Given the description of an element on the screen output the (x, y) to click on. 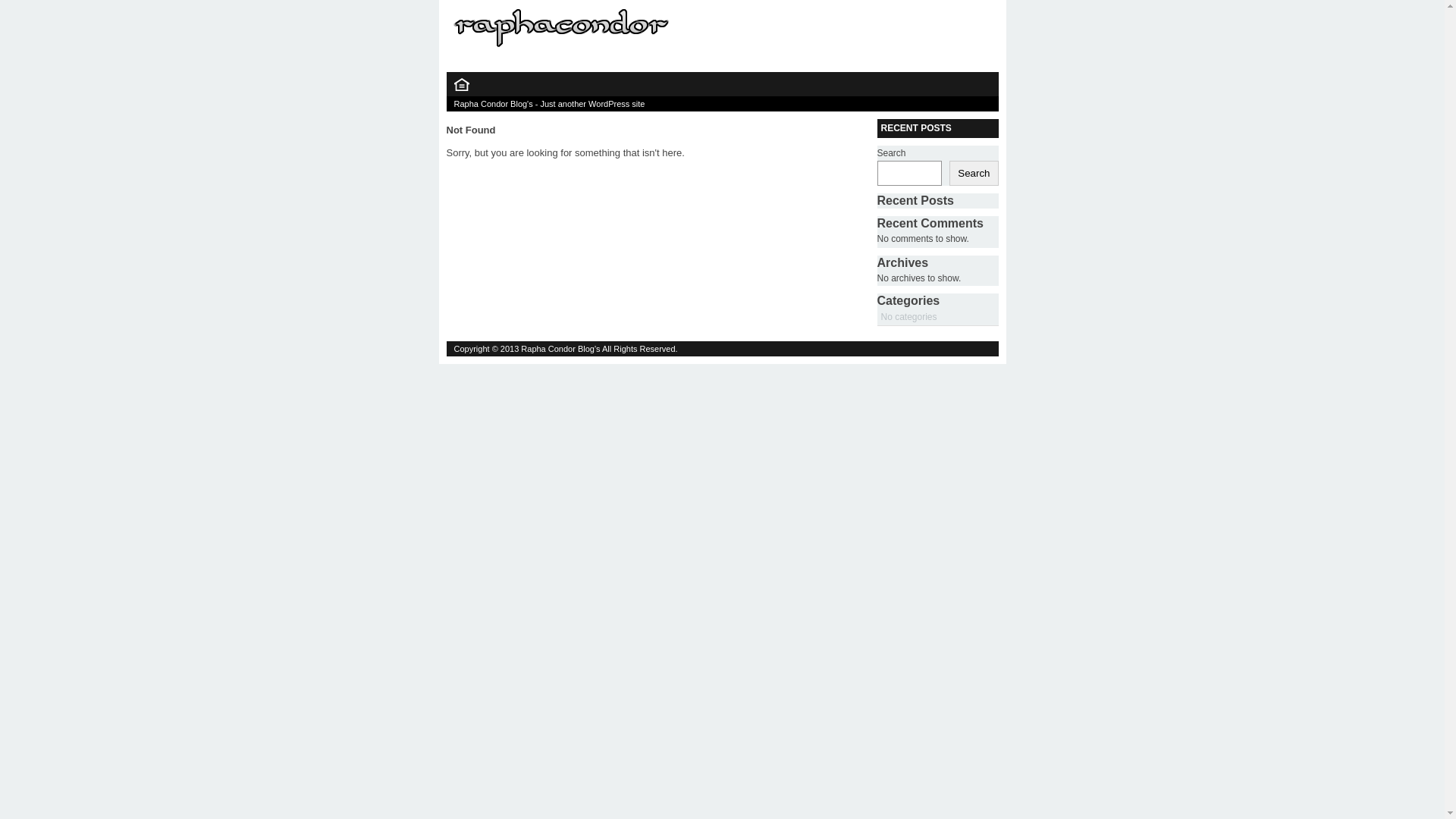
Search Element type: text (973, 172)
Home Element type: hover (460, 87)
